Given the description of an element on the screen output the (x, y) to click on. 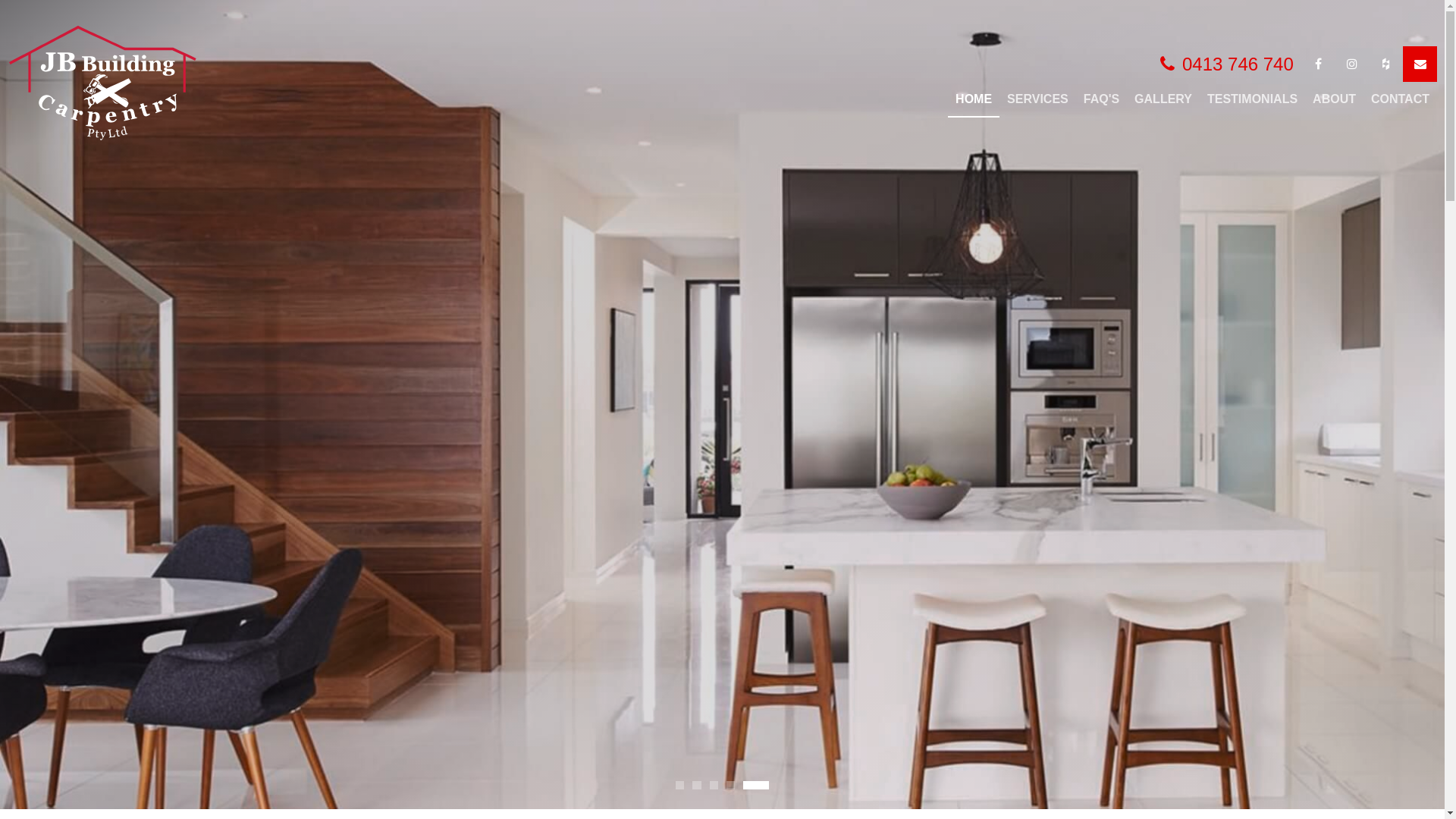
FAQ'S Element type: text (1101, 99)
TESTIMONIALS Element type: text (1252, 99)
SERVICES Element type: text (1037, 99)
CONTACT Element type: text (1400, 99)
GALLERY Element type: text (1162, 99)
0413 746 740 Element type: text (1226, 64)
HOME Element type: text (973, 99)
ABOUT Element type: text (1334, 99)
